Given the description of an element on the screen output the (x, y) to click on. 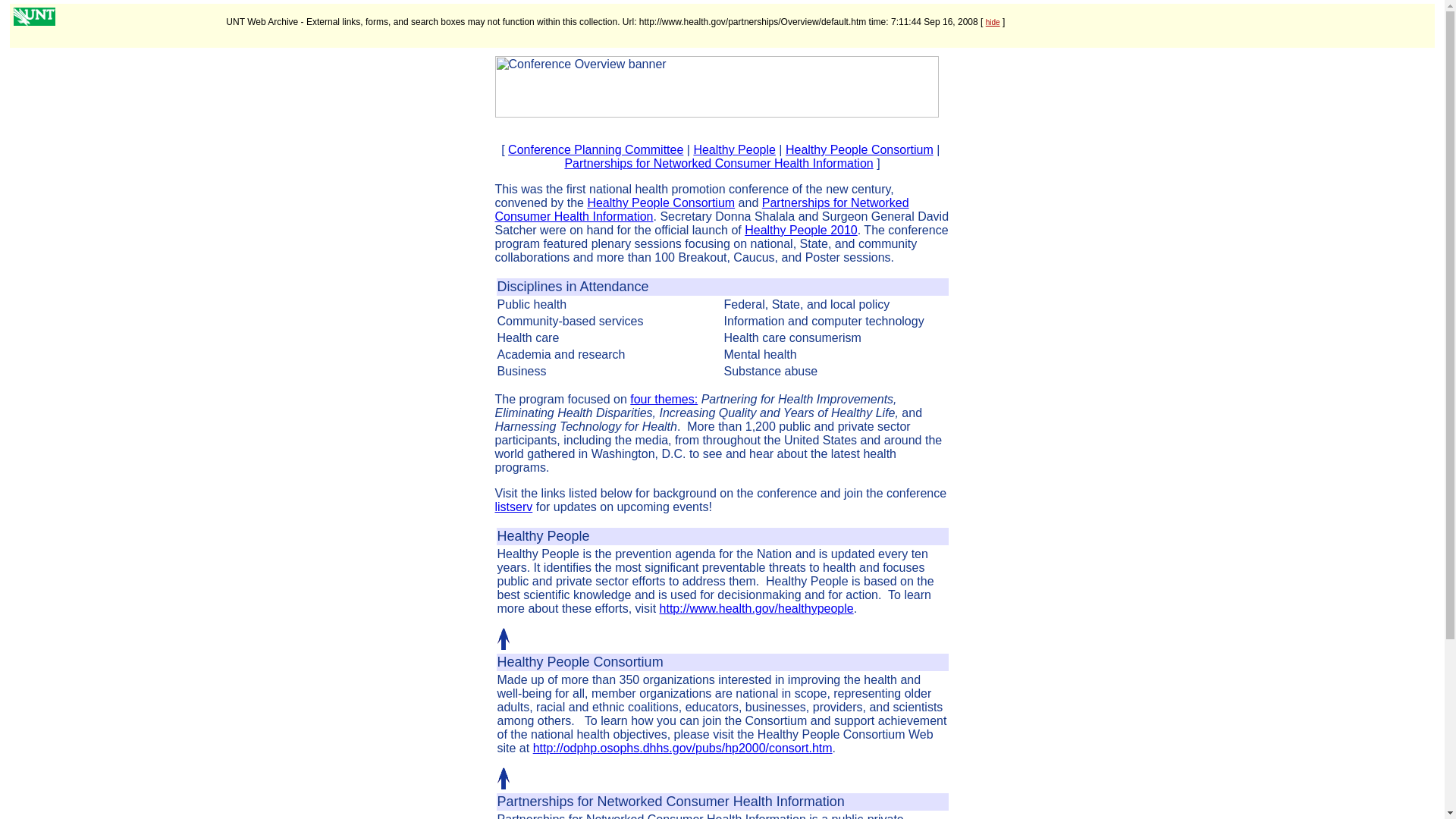
Partnerships for Networked Consumer Health Information (701, 209)
hide (992, 22)
listserv (513, 506)
Conference Planning Committee (595, 149)
Partnerships (535, 801)
Partnerships for Networked Consumer Health Information (718, 163)
Consortium (628, 661)
four themes: (663, 399)
Healthy People Consortium (660, 202)
Healthy People (734, 149)
Healthy People 2010 (800, 229)
Healthy People Consortium (859, 149)
Healthy People (543, 535)
